Given the description of an element on the screen output the (x, y) to click on. 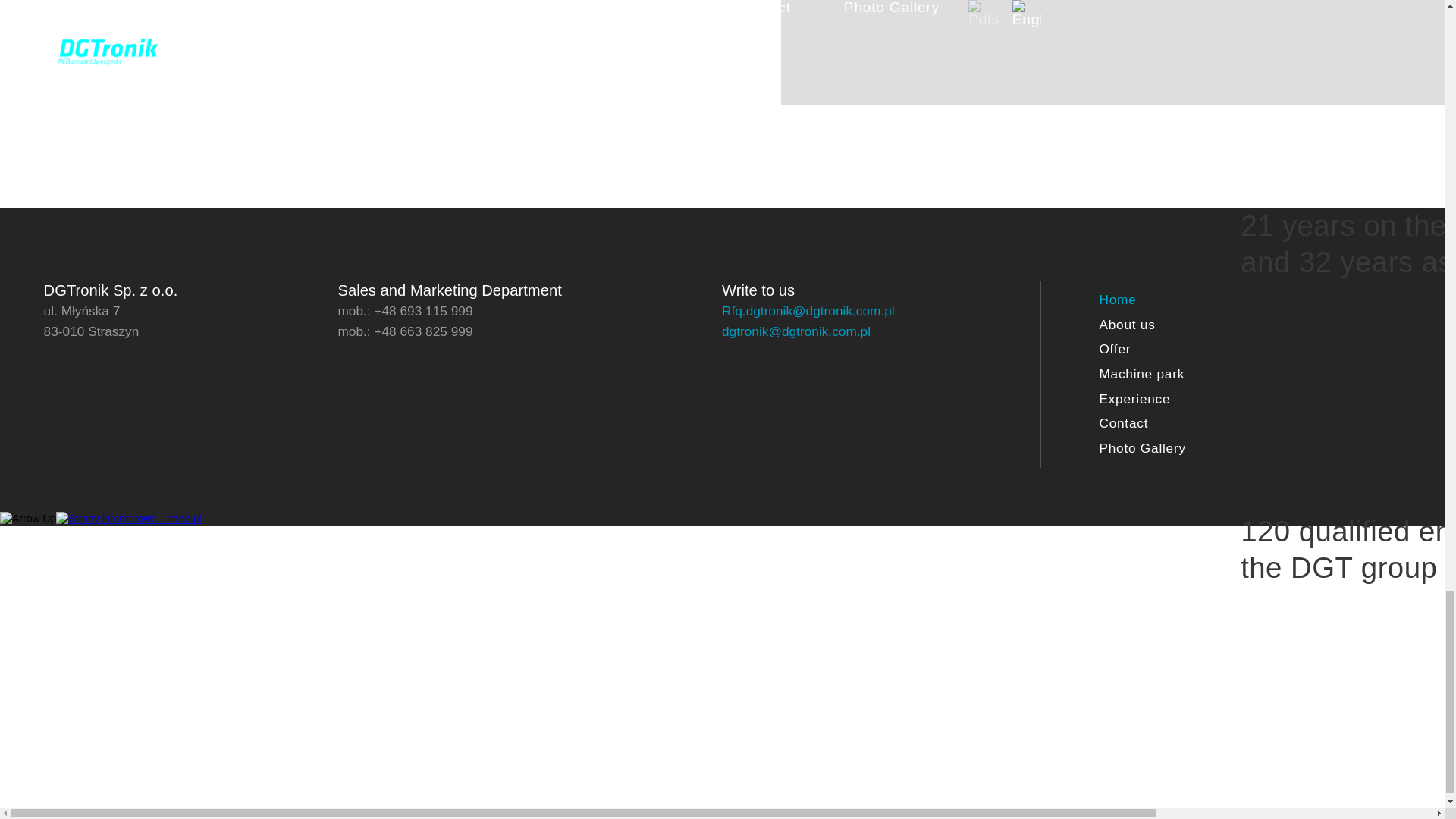
Experience (1171, 398)
Offer (1171, 349)
About us (1171, 324)
Home (1171, 299)
Photo Gallery (1171, 448)
Photo Gallery (1171, 448)
About us (1171, 324)
Machine park (1171, 373)
Strony internetowe - odee.pl (128, 518)
Machine park (1171, 373)
